Given the description of an element on the screen output the (x, y) to click on. 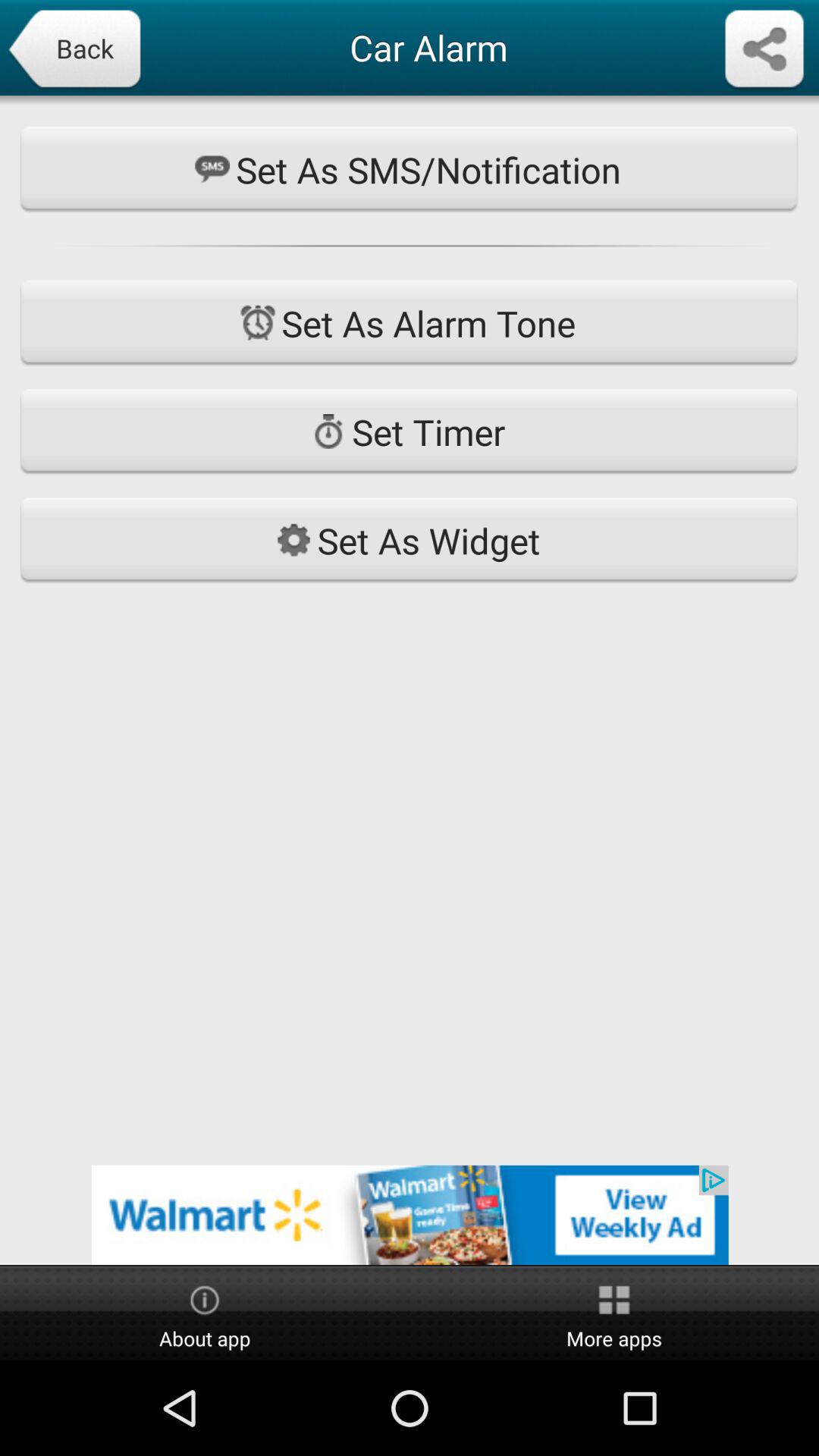
select the add image (409, 1214)
